Given the description of an element on the screen output the (x, y) to click on. 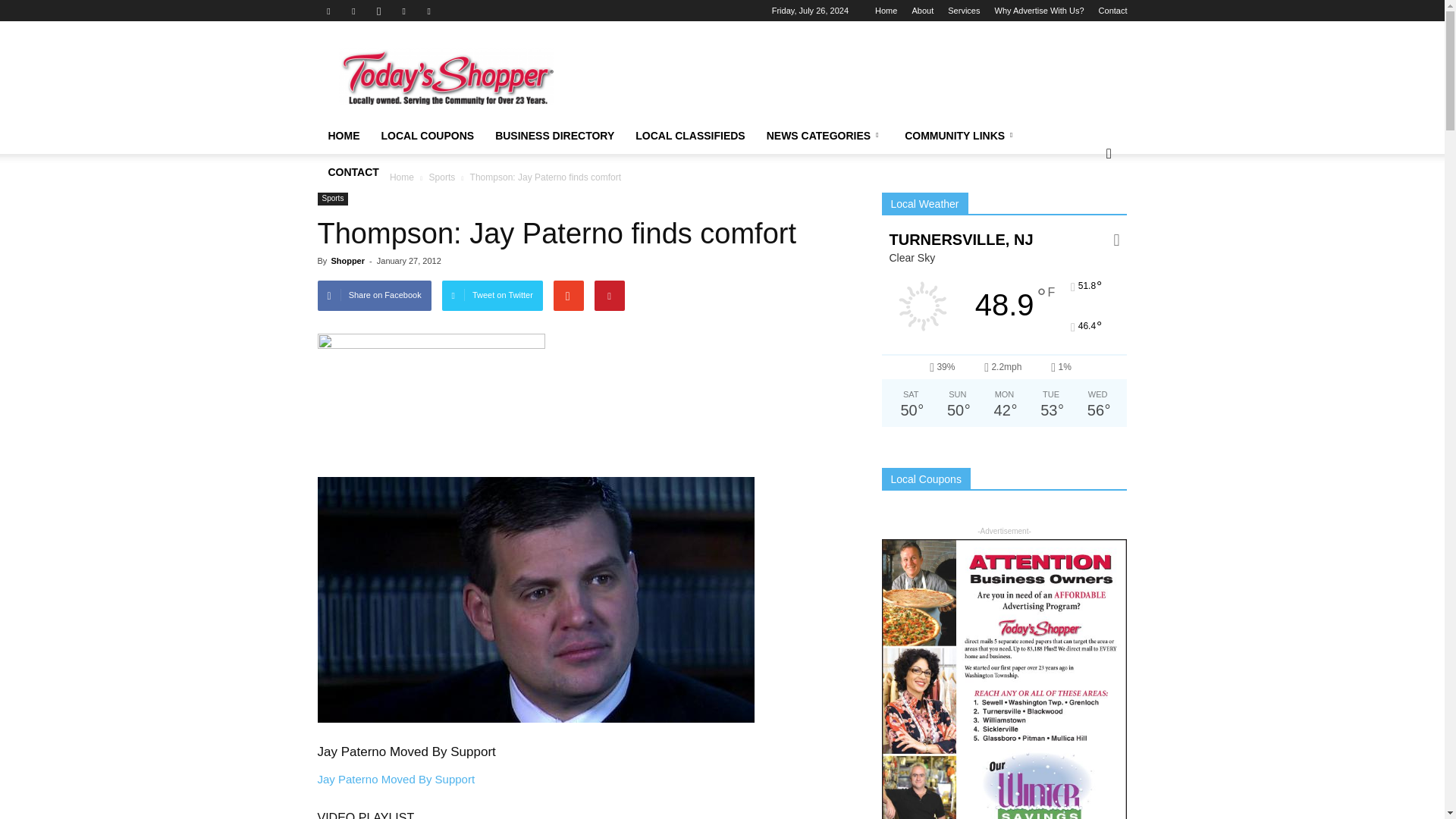
Twitter (403, 10)
Facebook (328, 10)
View all posts in Sports (443, 176)
Your Source for Local Coupons and Classifieds (445, 76)
Youtube (429, 10)
Instagram (379, 10)
